Given the description of an element on the screen output the (x, y) to click on. 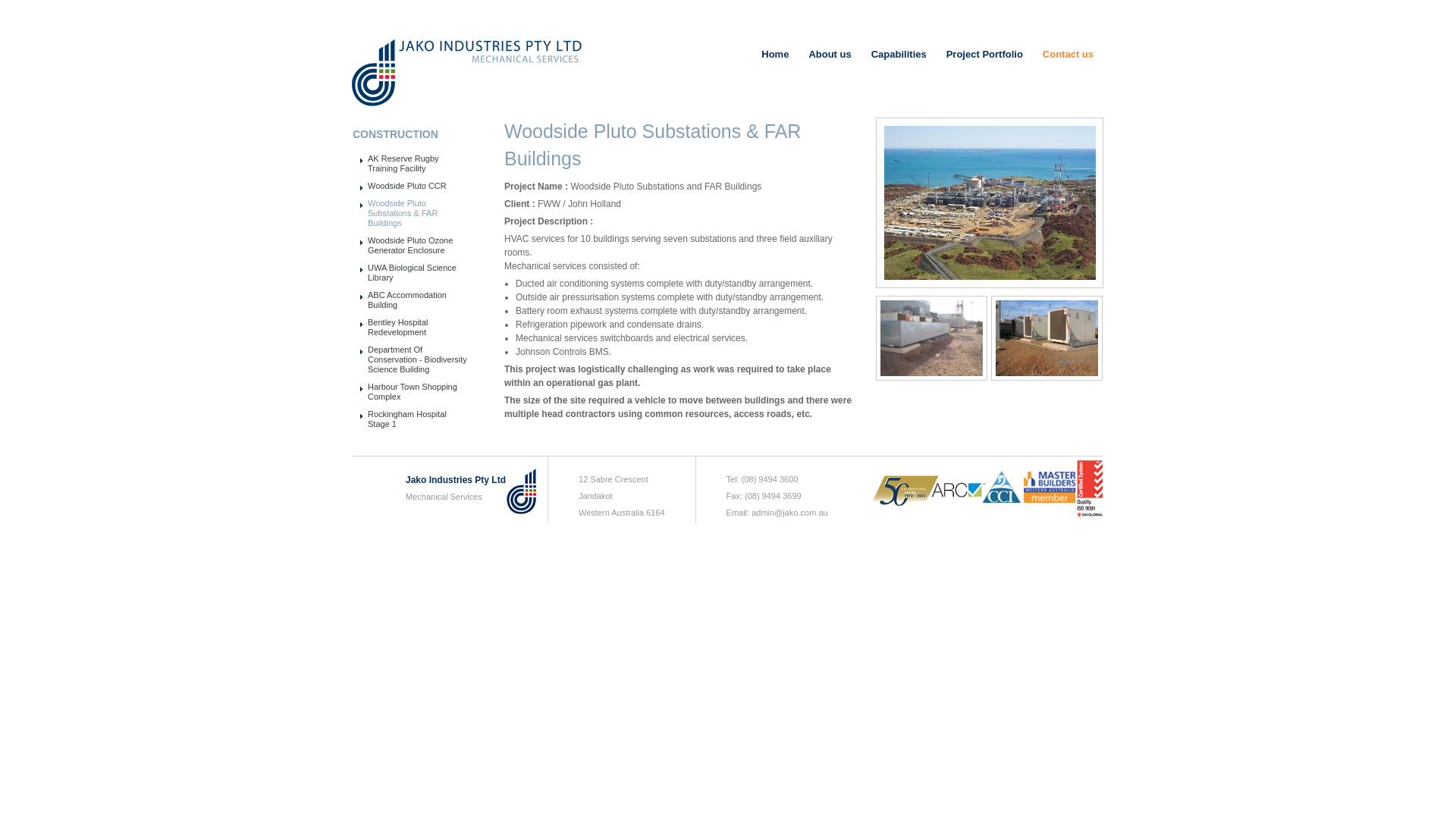
About us Element type: text (829, 54)
Contact us Element type: text (1067, 54)
Woodside Pluto CCR Element type: text (406, 185)
Woodside Pluto Ozone Generator Enclosure Element type: text (409, 244)
Home Element type: text (774, 54)
Project Portfolio Element type: text (984, 54)
UWA Biological Science Library Element type: text (411, 272)
Harbour Town Shopping Complex Element type: text (412, 391)
Jako Industries Pty Ltd Element type: text (455, 479)
ABC Accommodation Building Element type: text (406, 299)
Woodside Pluto Substations & FAR Buildings Element type: text (402, 212)
Department Of Conservation - Biodiversity Science Building Element type: text (417, 359)
AK Reserve Rugby Training Facility Element type: text (403, 162)
Bentley Hospital Redevelopment Element type: text (397, 326)
admin@jako.com.au Element type: text (789, 512)
Capabilities Element type: text (898, 54)
Rockingham Hospital Stage 1 Element type: text (406, 418)
